Given the description of an element on the screen output the (x, y) to click on. 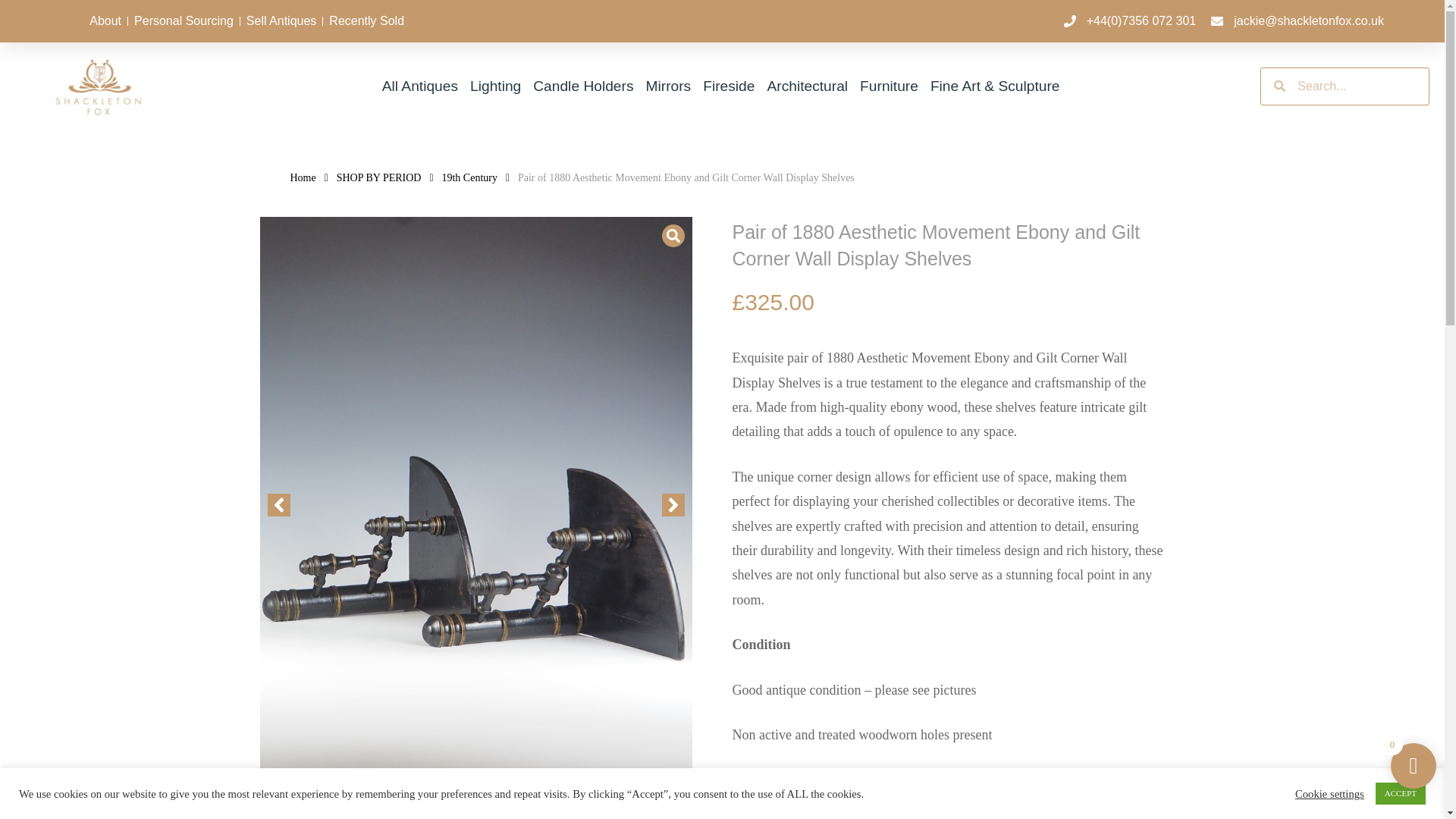
Furniture (889, 86)
All Antiques (419, 86)
Fireside (728, 86)
Candle Holders (582, 86)
Sell Antiques (281, 21)
Architectural (807, 86)
Personal Sourcing (182, 21)
Lighting (495, 86)
Recently Sold (366, 21)
About (104, 21)
